Given the description of an element on the screen output the (x, y) to click on. 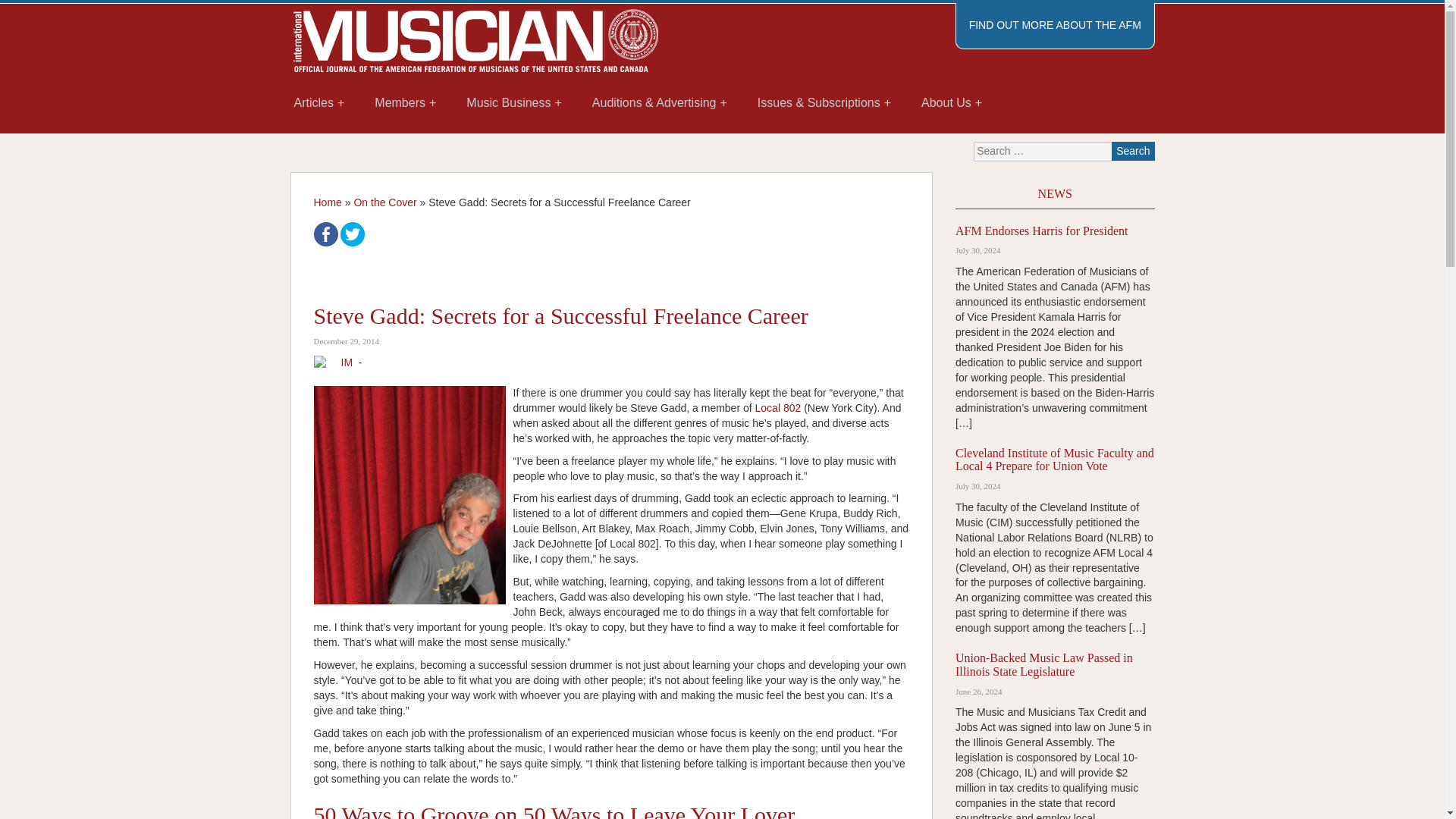
Articles (319, 102)
Music Business (513, 102)
Search (1133, 150)
Search (1133, 150)
Share on Facebook (325, 233)
Posts by IM (346, 362)
About Us (951, 102)
Tweet (352, 233)
Members (405, 102)
